Given the description of an element on the screen output the (x, y) to click on. 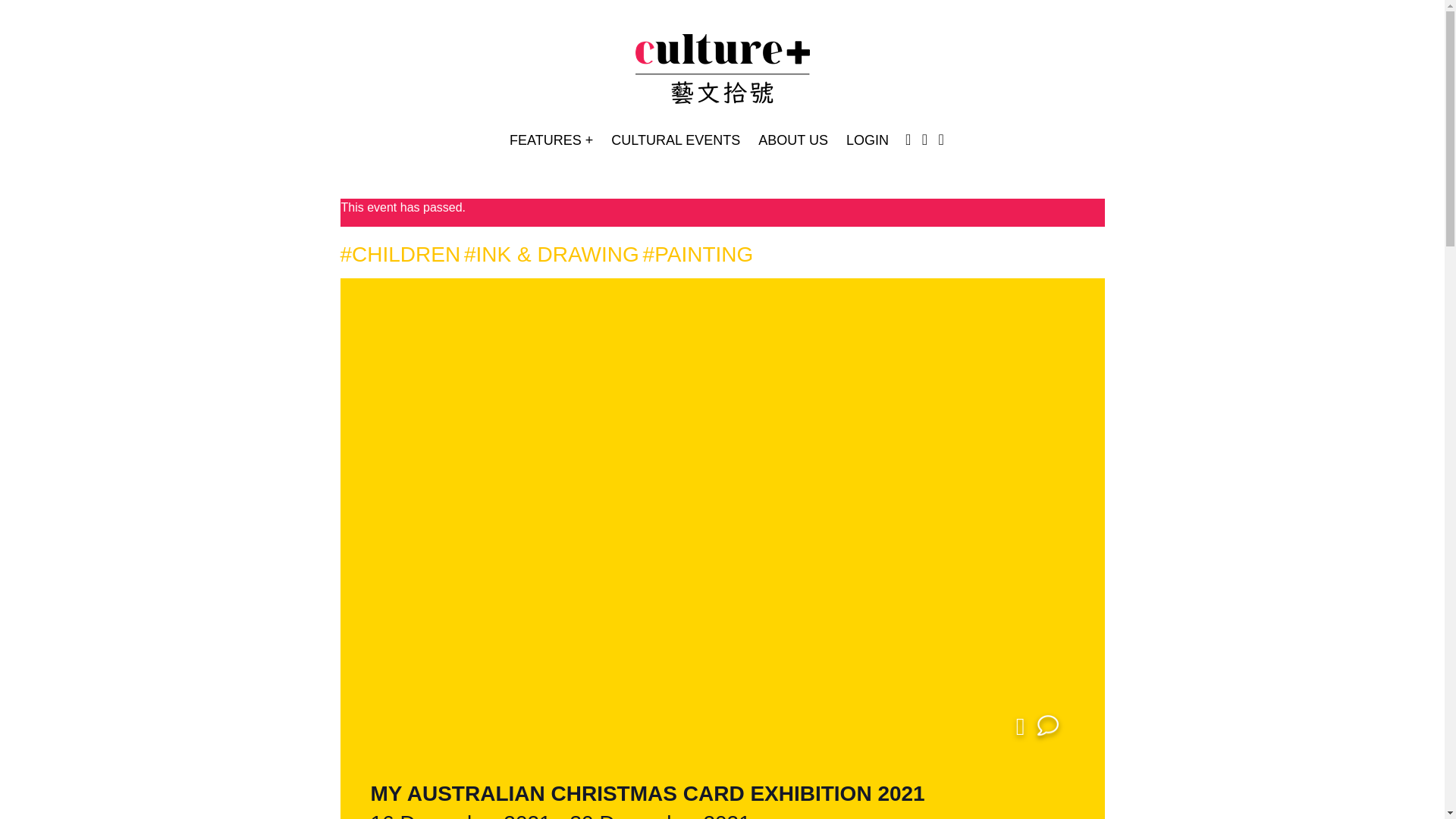
CULTURAL EVENTS (675, 140)
PAINTING (698, 254)
Instagram (908, 139)
Youtube (941, 140)
LOGIN (867, 140)
Facebook (924, 139)
CHILDREN (399, 254)
Facebook (924, 140)
ABOUT US (793, 140)
Youtube (941, 139)
Instagram (908, 140)
Culture Plus (721, 71)
